Given the description of an element on the screen output the (x, y) to click on. 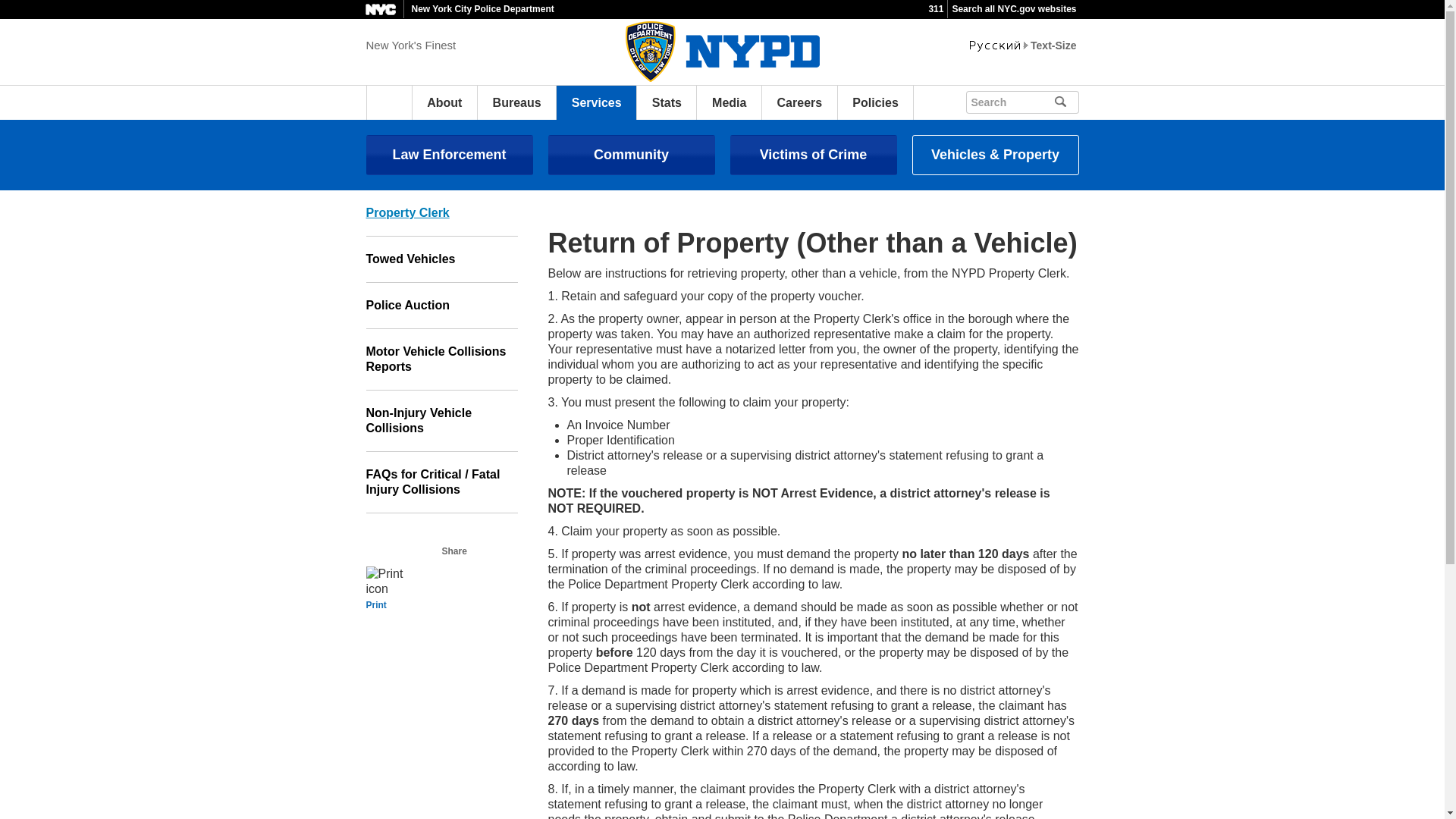
Community (630, 155)
311 (935, 9)
submit (1066, 101)
submit (1066, 101)
Non-Injury Vehicle Collisions (440, 421)
Bureaus (517, 102)
About (443, 102)
Media (728, 102)
Policies (874, 102)
submit (1081, 100)
submit (1066, 101)
Search all NYC.gov websites (1013, 9)
Towed Vehicles (440, 259)
Motor Vehicle Collisions Reports (440, 359)
Careers (799, 102)
